Given the description of an element on the screen output the (x, y) to click on. 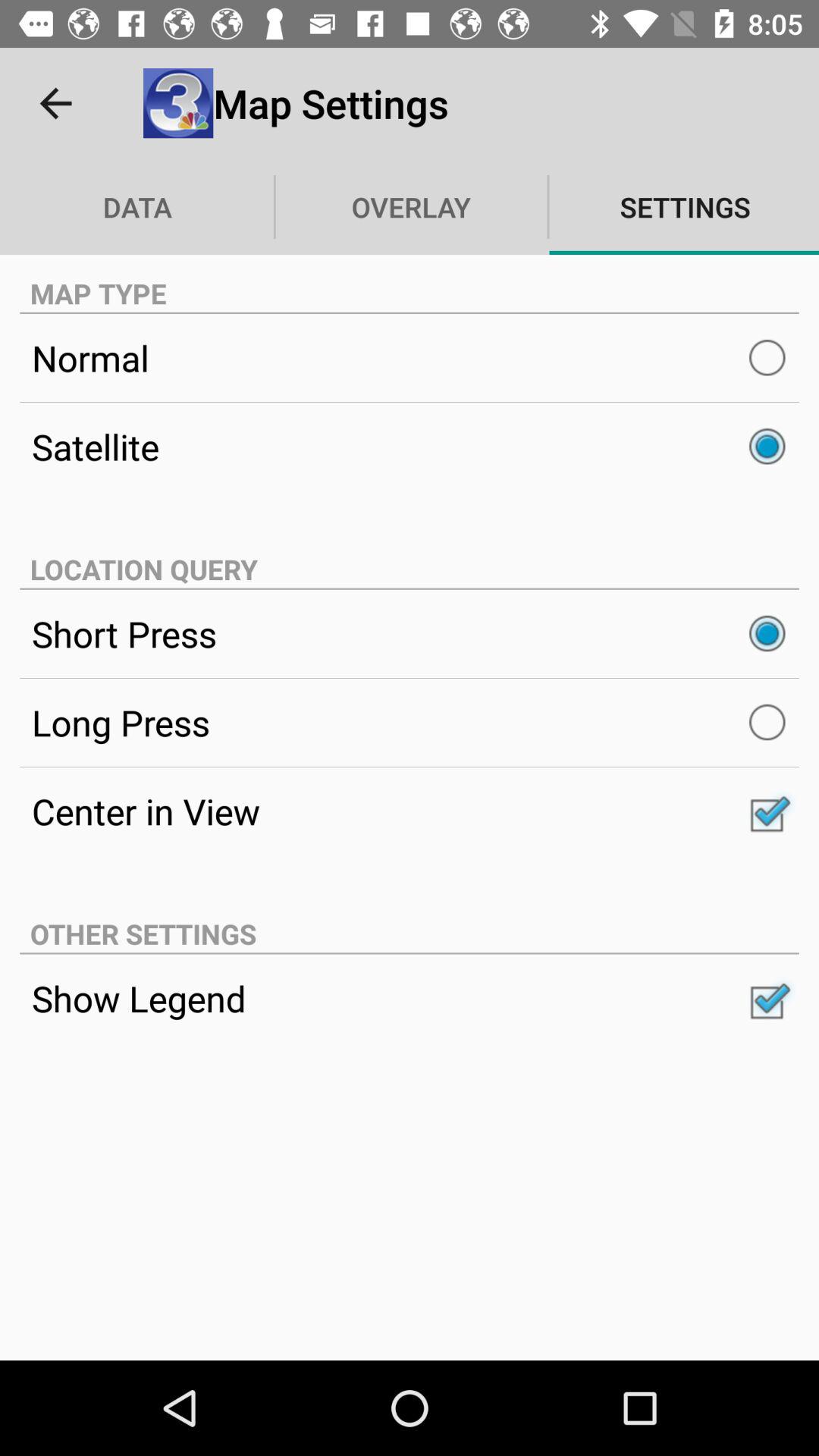
select the long press (409, 722)
